Given the description of an element on the screen output the (x, y) to click on. 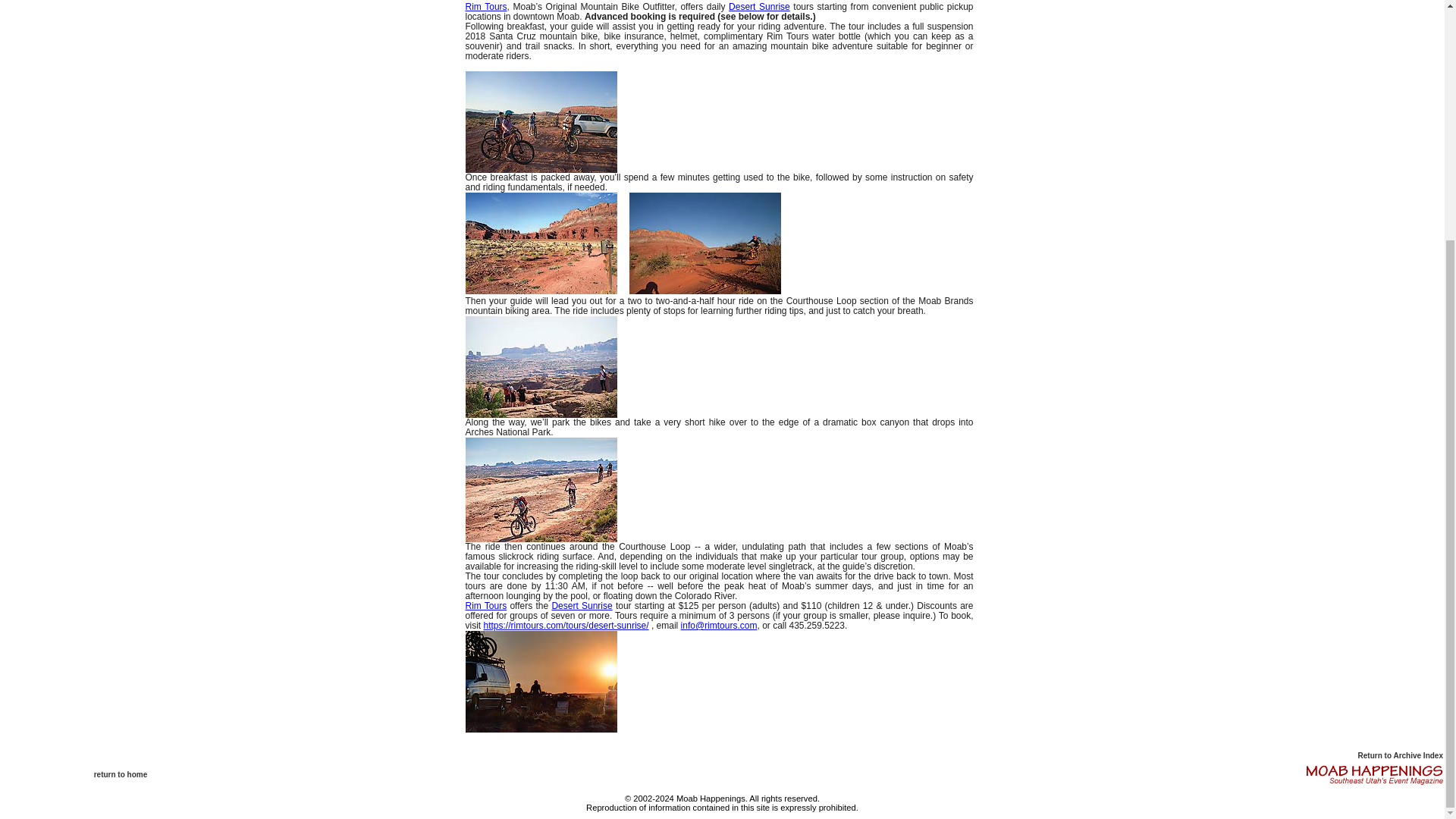
Desert Sunrise (581, 605)
Return to Archive Index (1400, 755)
return to home (121, 774)
Rim Tours (485, 605)
Rim Tours (485, 6)
Desert Sunrise (759, 6)
